Given the description of an element on the screen output the (x, y) to click on. 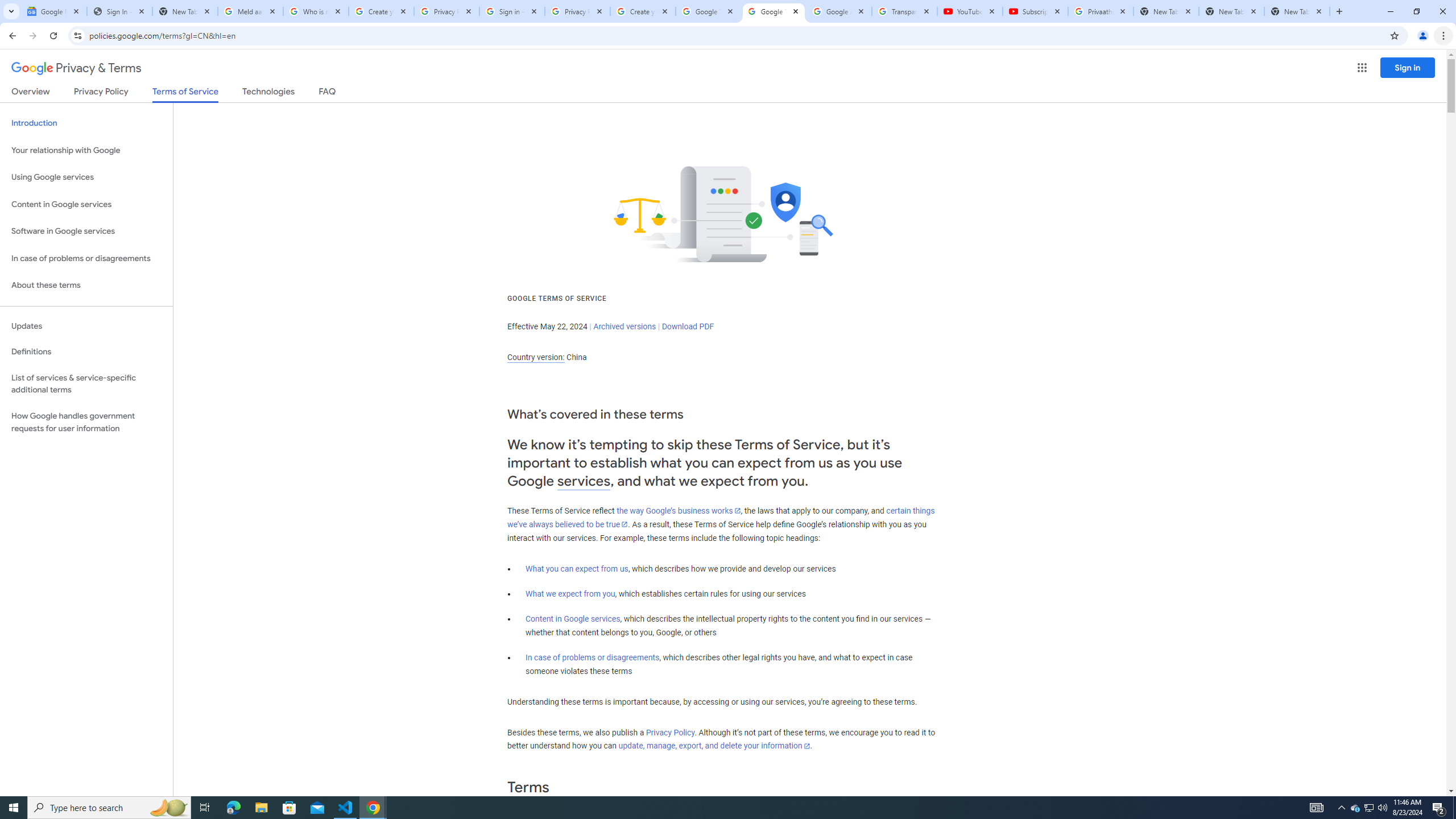
Your relationship with Google (86, 150)
Google News (53, 11)
